Given the description of an element on the screen output the (x, y) to click on. 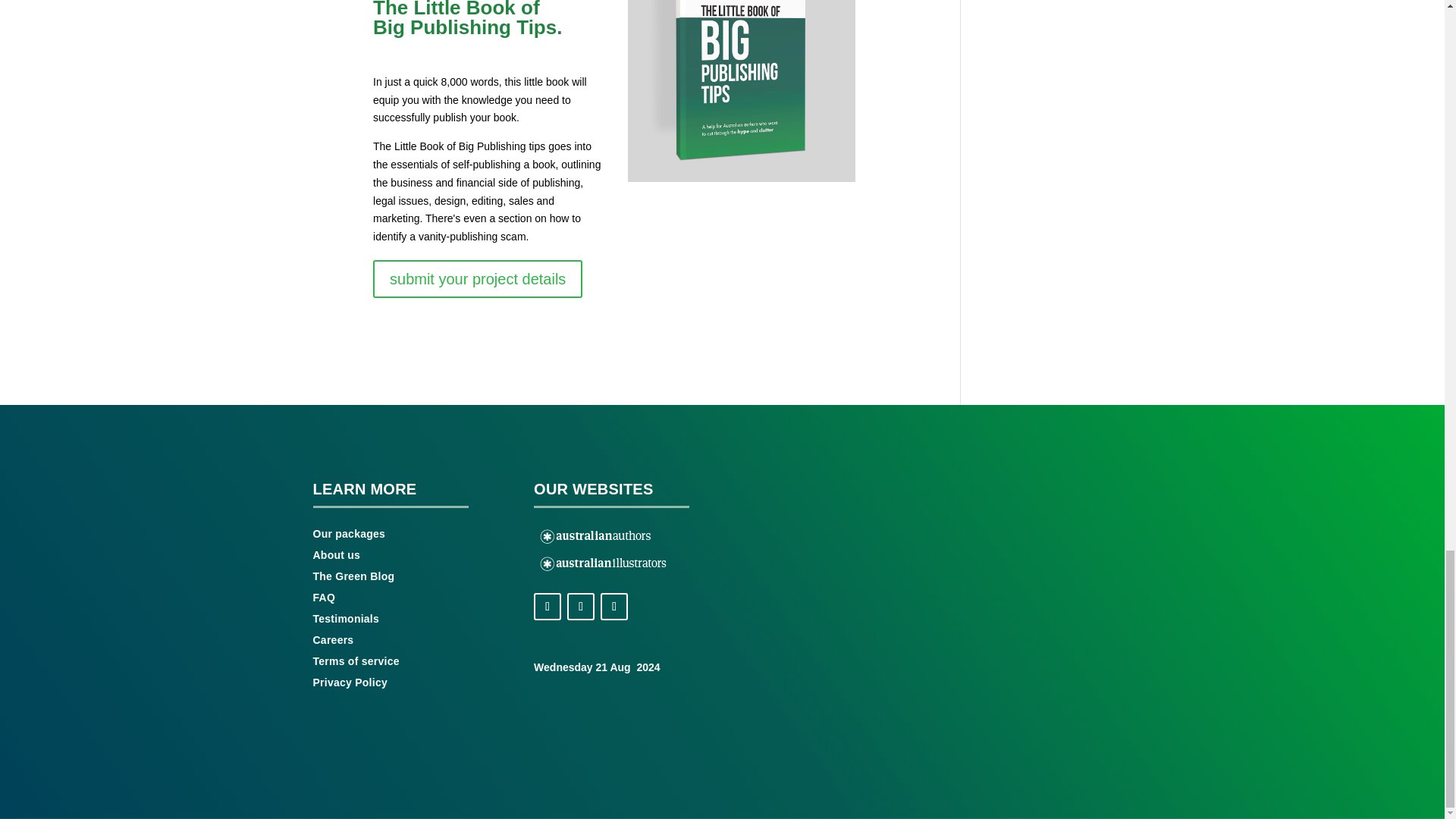
Follow on LinkedIn (613, 605)
The-little-book-of-big-publishing-tips (741, 90)
Australian authors store (596, 536)
Australian Illustrators Store (603, 564)
Follow on Facebook (547, 605)
Follow on Instagram (580, 605)
